Given the description of an element on the screen output the (x, y) to click on. 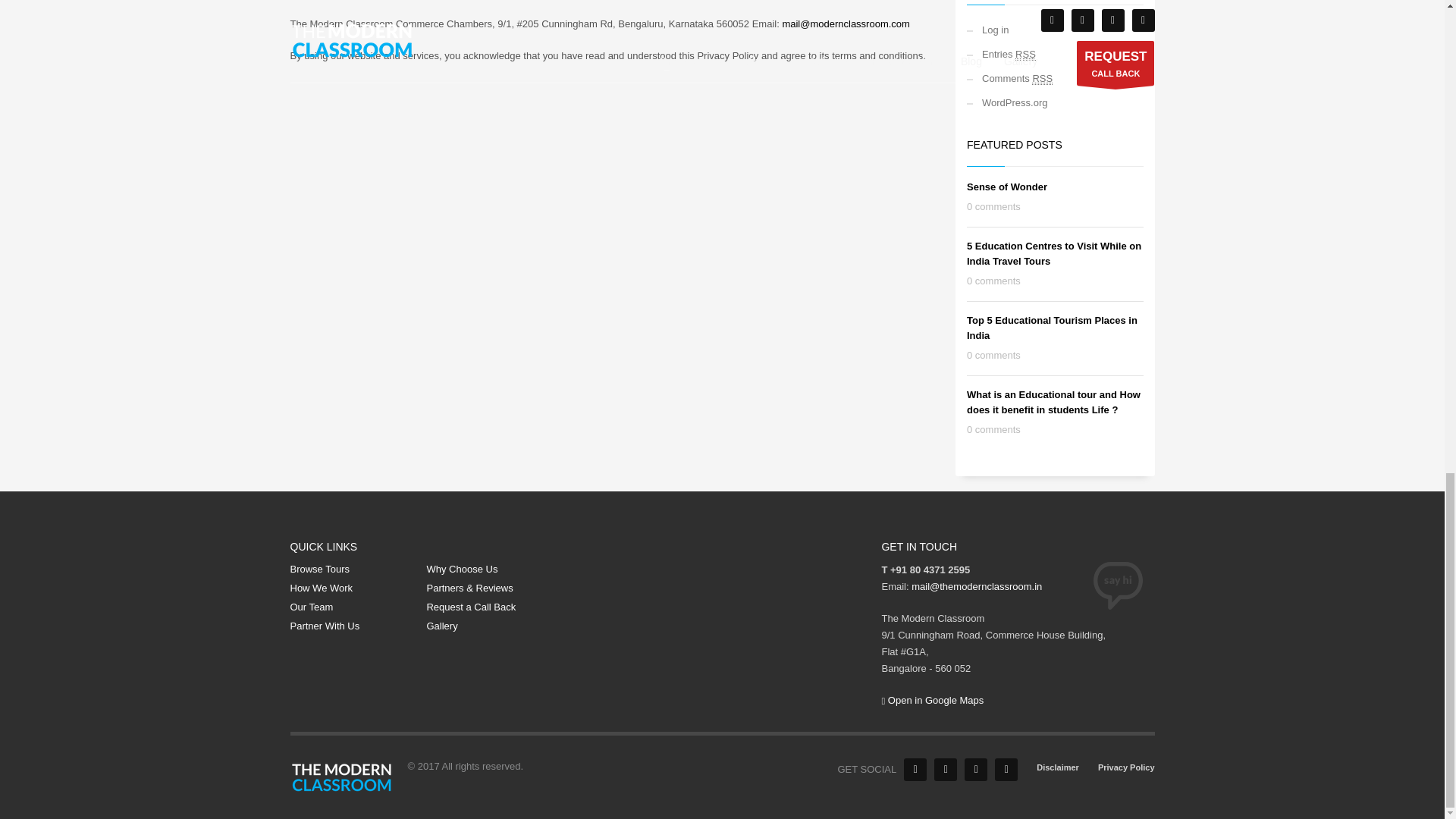
Log in (1054, 30)
Entries RSS (1054, 54)
Really Simple Syndication (1024, 54)
Really Simple Syndication (1042, 78)
